Given the description of an element on the screen output the (x, y) to click on. 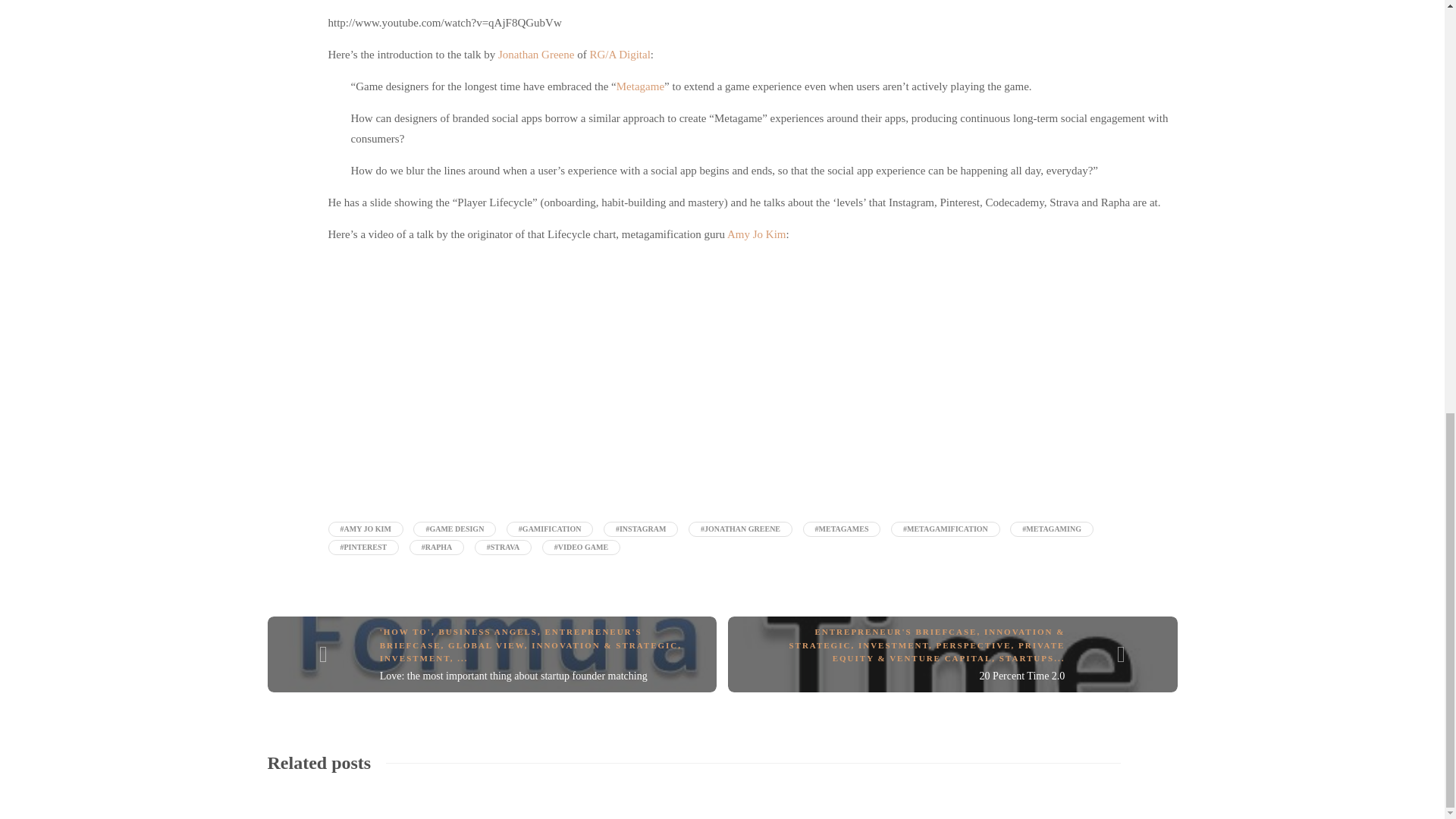
Metagaming (639, 86)
Jonathan Greene (535, 54)
Amy Jo Kim (756, 234)
Amy Jo Kim (756, 234)
Metagame (639, 86)
